Given the description of an element on the screen output the (x, y) to click on. 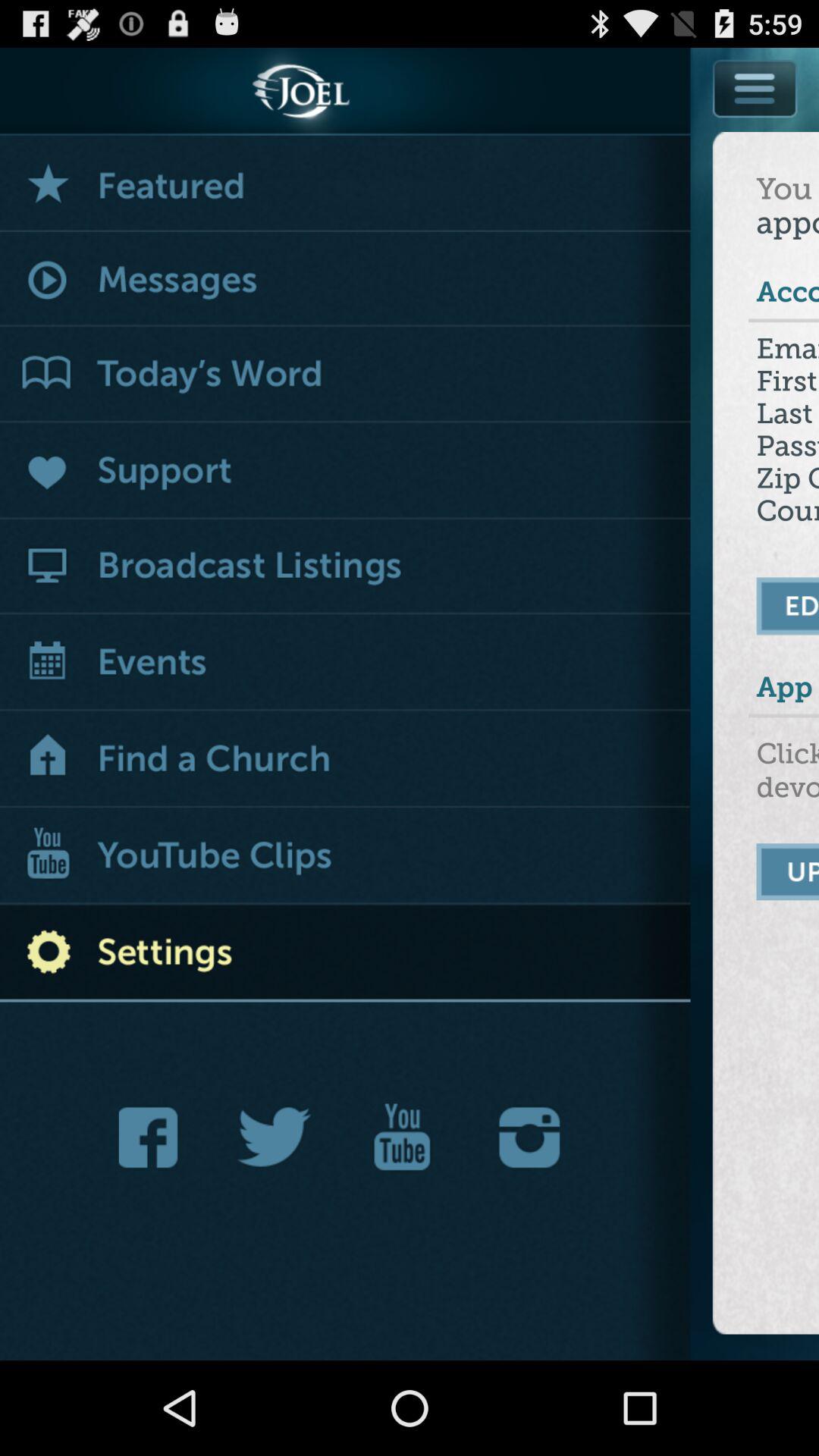
a menu button (755, 122)
